Given the description of an element on the screen output the (x, y) to click on. 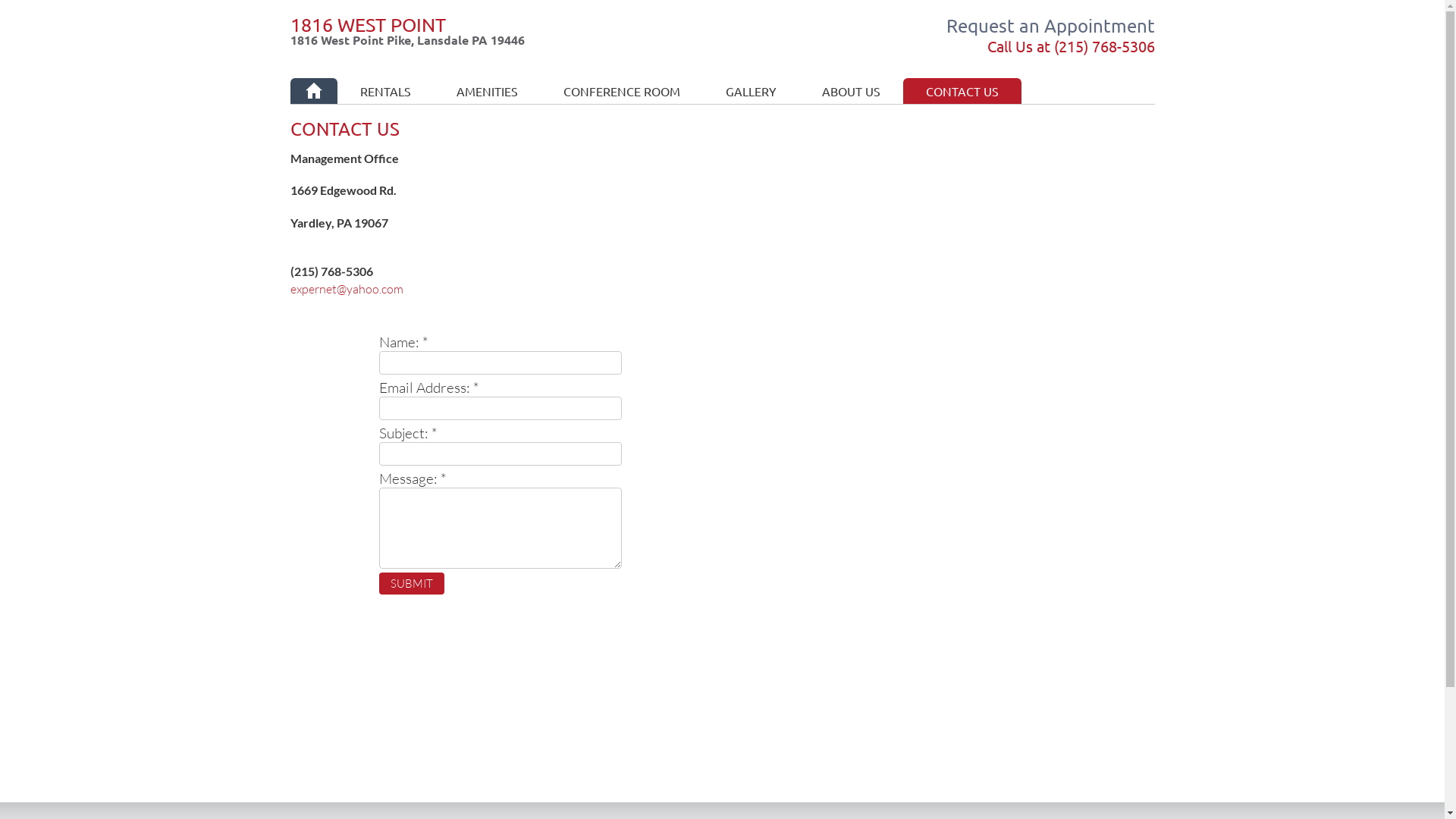
CONTACT US Element type: text (961, 90)
RENTALS Element type: text (384, 90)
GALLERY Element type: text (750, 90)
AMENITIES Element type: text (486, 90)
expernet@yahoo.com Element type: text (345, 288)
HOME Element type: text (312, 90)
CONFERENCE ROOM Element type: text (620, 90)
ABOUT US Element type: text (851, 90)
Submit Element type: text (411, 583)
1816 WEST POINT Element type: text (367, 24)
